Given the description of an element on the screen output the (x, y) to click on. 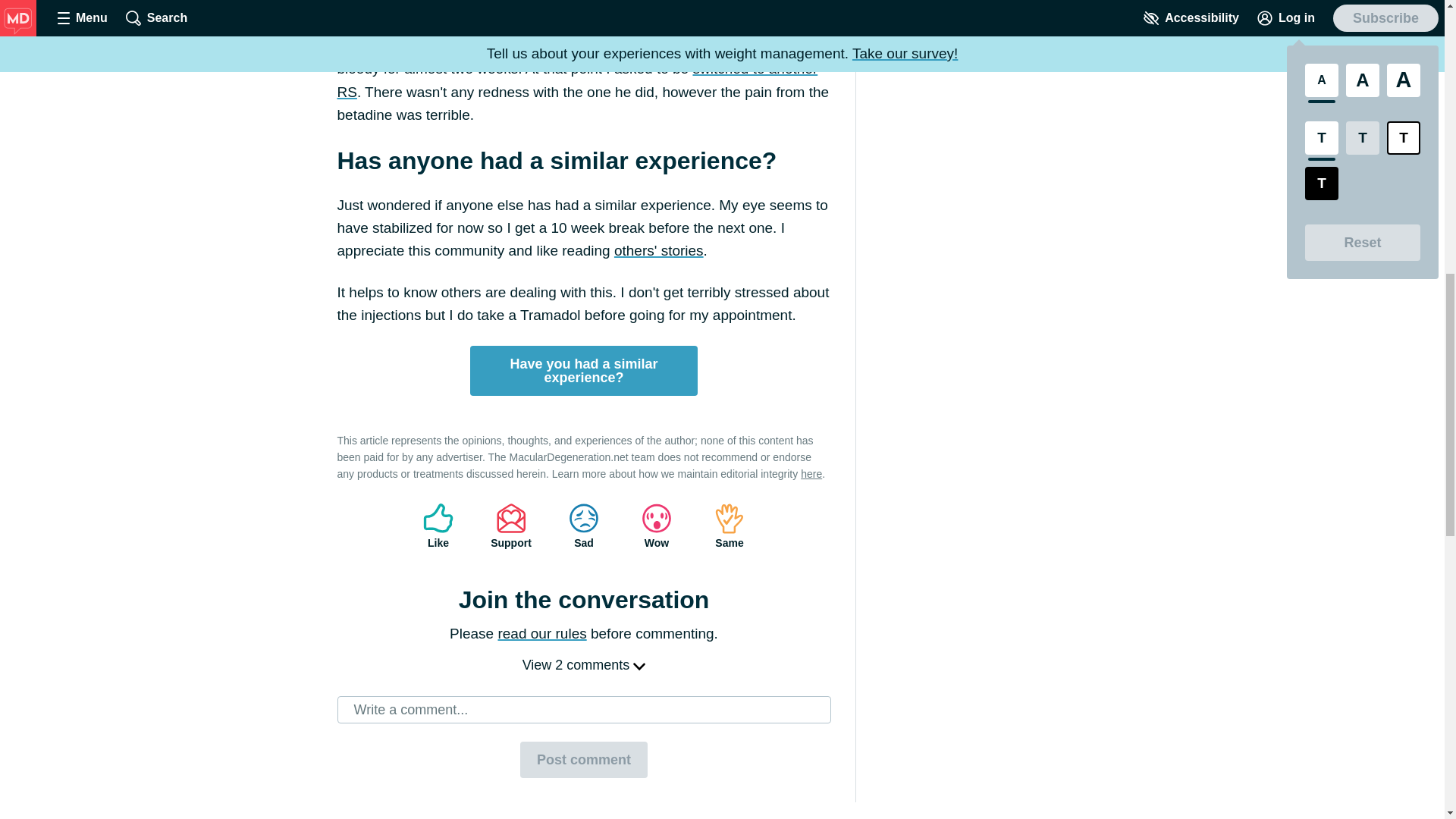
read our rules (541, 633)
others' stories (658, 250)
Have you had a similar experience? (583, 370)
View 2 comments caret icon (584, 665)
Wow (656, 525)
Same (729, 525)
Sad (583, 525)
Support (510, 525)
Like (437, 525)
here (811, 473)
switched to another RS (576, 79)
caret icon (639, 665)
